Given the description of an element on the screen output the (x, y) to click on. 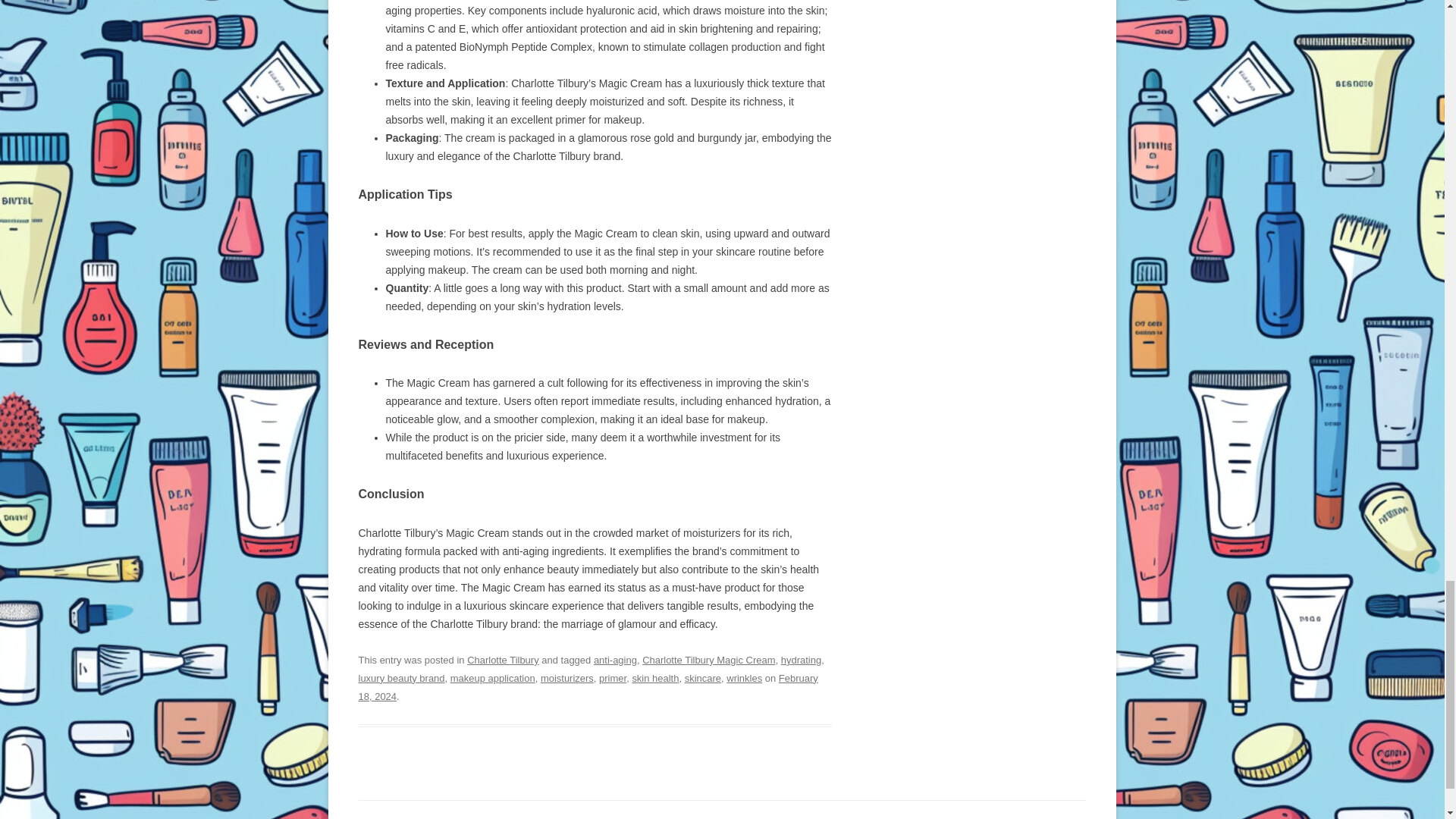
5:11 pm (587, 686)
February 18, 2024 (587, 686)
makeup application (492, 677)
anti-aging (615, 659)
skin health (654, 677)
luxury beauty brand (401, 677)
primer (612, 677)
wrinkles (743, 677)
Charlotte Tilbury (502, 659)
hydrating (800, 659)
